Given the description of an element on the screen output the (x, y) to click on. 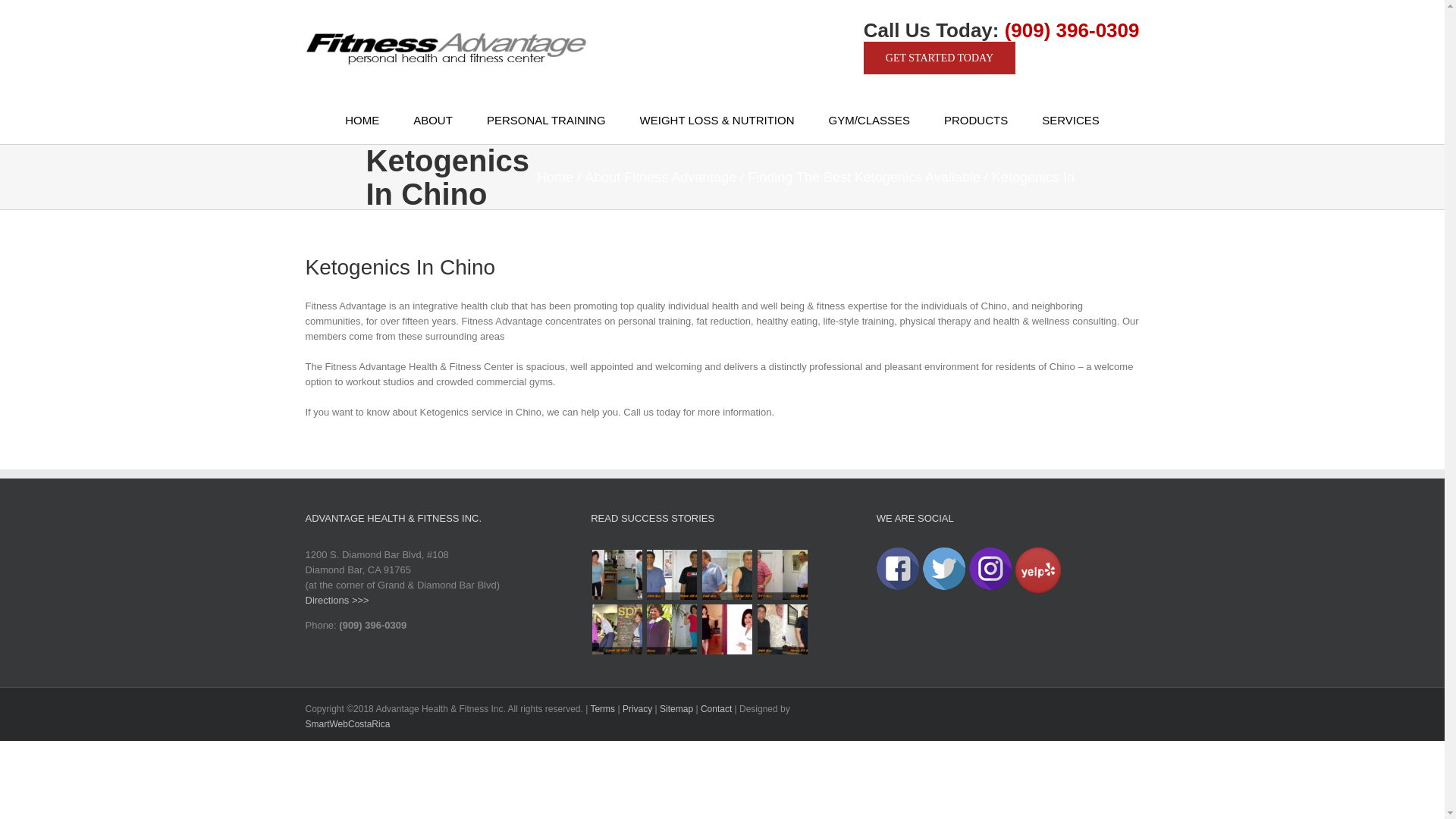
twitter (944, 568)
Vince Prater (726, 574)
PRODUCTS (975, 120)
Lydia Plunk (672, 628)
Jesse Jones (617, 628)
Amit Vora (672, 574)
instagram (990, 568)
JoAnn Martin (617, 574)
Mike Ponce (781, 628)
Gayle Lucas (726, 628)
SERVICES (1070, 120)
yelp (1037, 569)
PERSONAL TRAINING (545, 120)
Gary Kirner (781, 574)
facebook (897, 568)
